Given the description of an element on the screen output the (x, y) to click on. 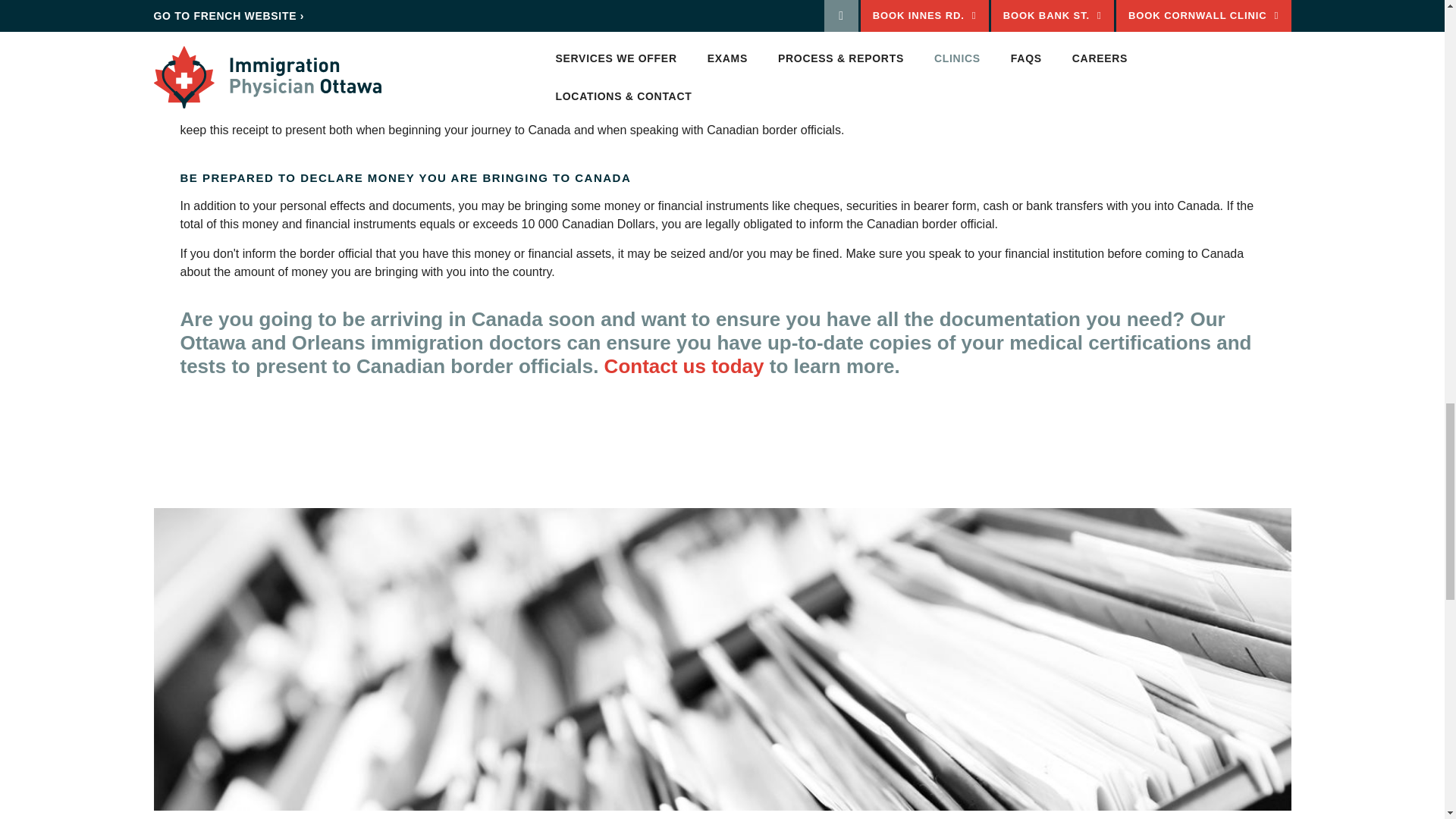
Contact us today (684, 365)
outlined here (417, 63)
ARRIVECAN (249, 35)
